Given the description of an element on the screen output the (x, y) to click on. 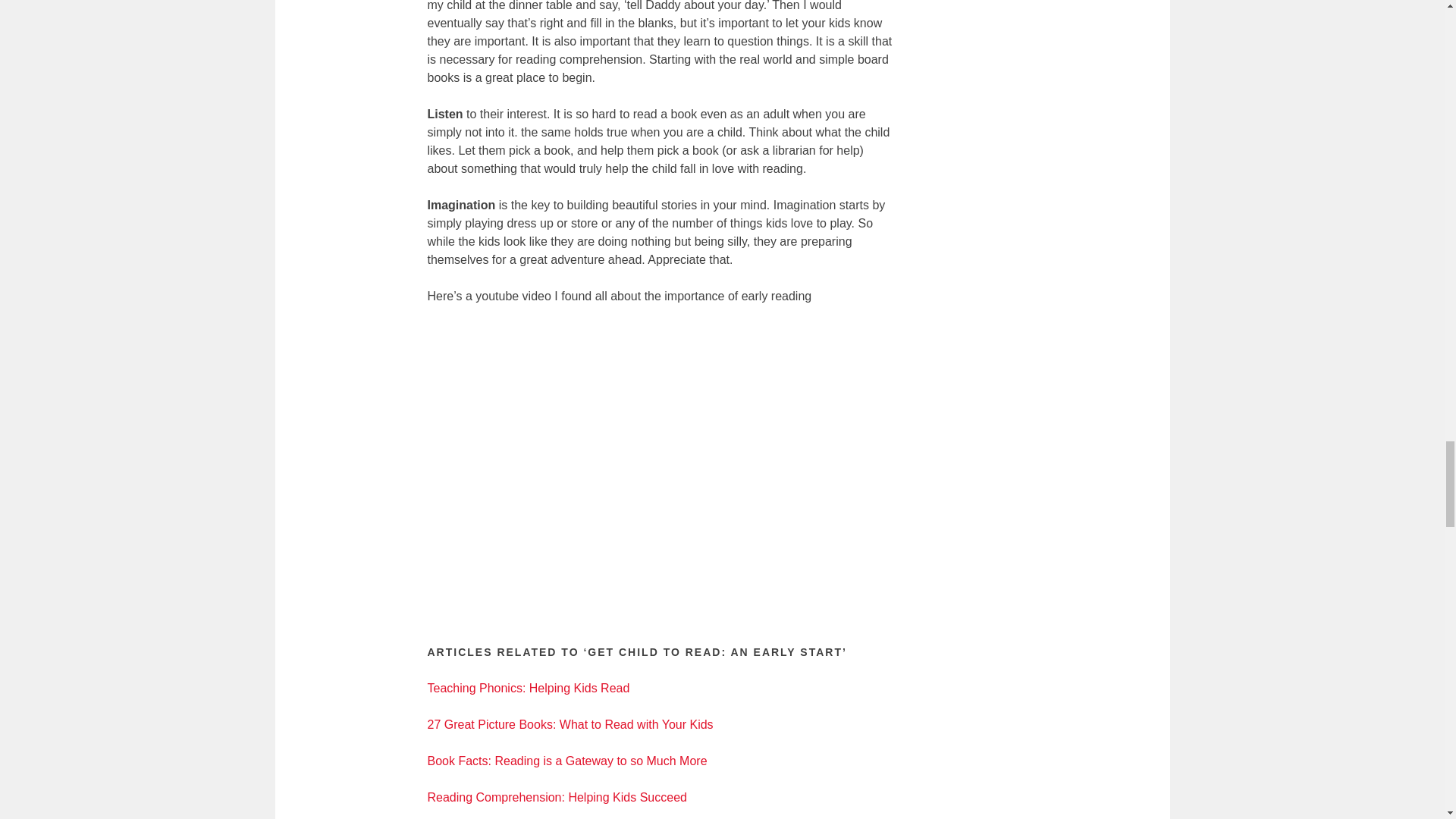
Book Facts: Reading is a Gateway to so Much More (567, 760)
27 Great Picture Books: What to Read with Your Kids (570, 724)
Teaching Phonics: Helping Kids Read (529, 687)
